Given the description of an element on the screen output the (x, y) to click on. 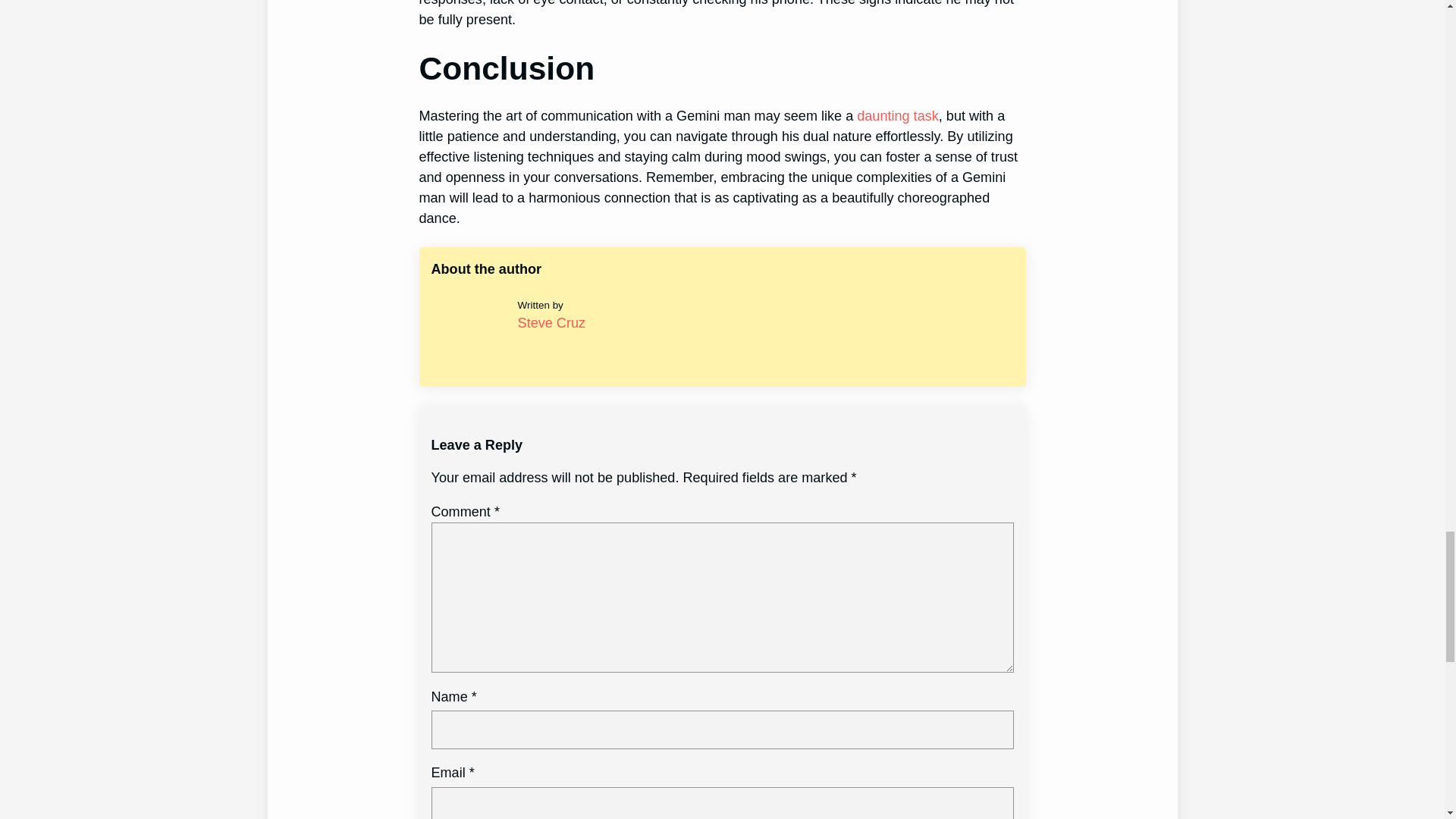
daunting task (898, 115)
Steve Cruz (551, 322)
daunting task (898, 115)
